Given the description of an element on the screen output the (x, y) to click on. 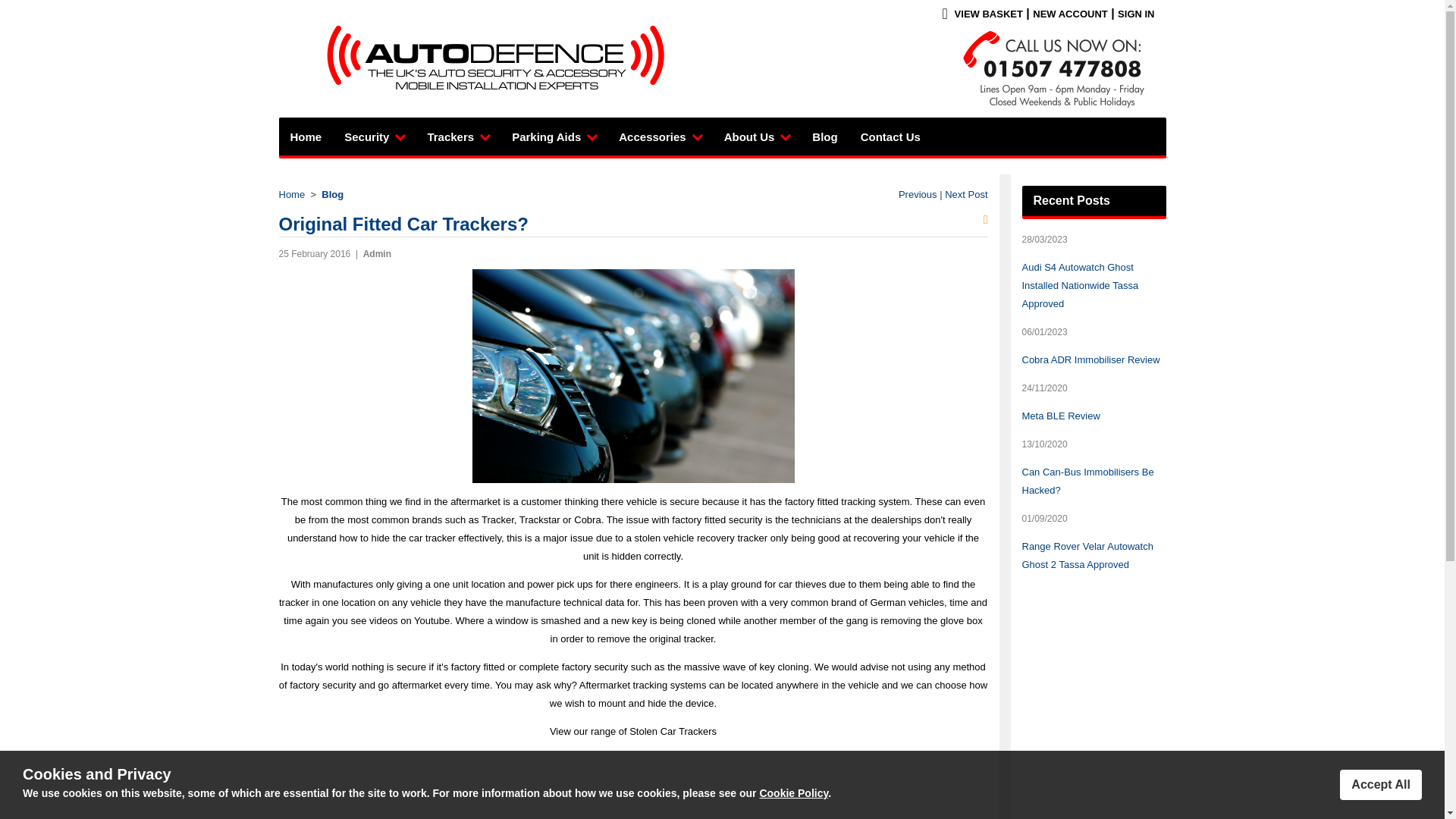
Cobra Flush Mount Sensors (965, 194)
Stolen Car Trackers (672, 731)
Range Rover Velar Autowatch Ghost 2 Tassa Approved (1087, 555)
Previous (917, 194)
Audi S4 Autowatch Ghost Installed Nationwide Tassa Approved (1080, 285)
Compare Thatcham Cat 5 Trackers (917, 194)
RSS (986, 219)
Blog (332, 194)
Home (292, 194)
Cobra ADR Immobiliser Review (1091, 359)
Meta BLE Review (1061, 415)
Can Can-Bus Immobilisers Be Hacked? (1088, 481)
Next Post (965, 194)
